Given the description of an element on the screen output the (x, y) to click on. 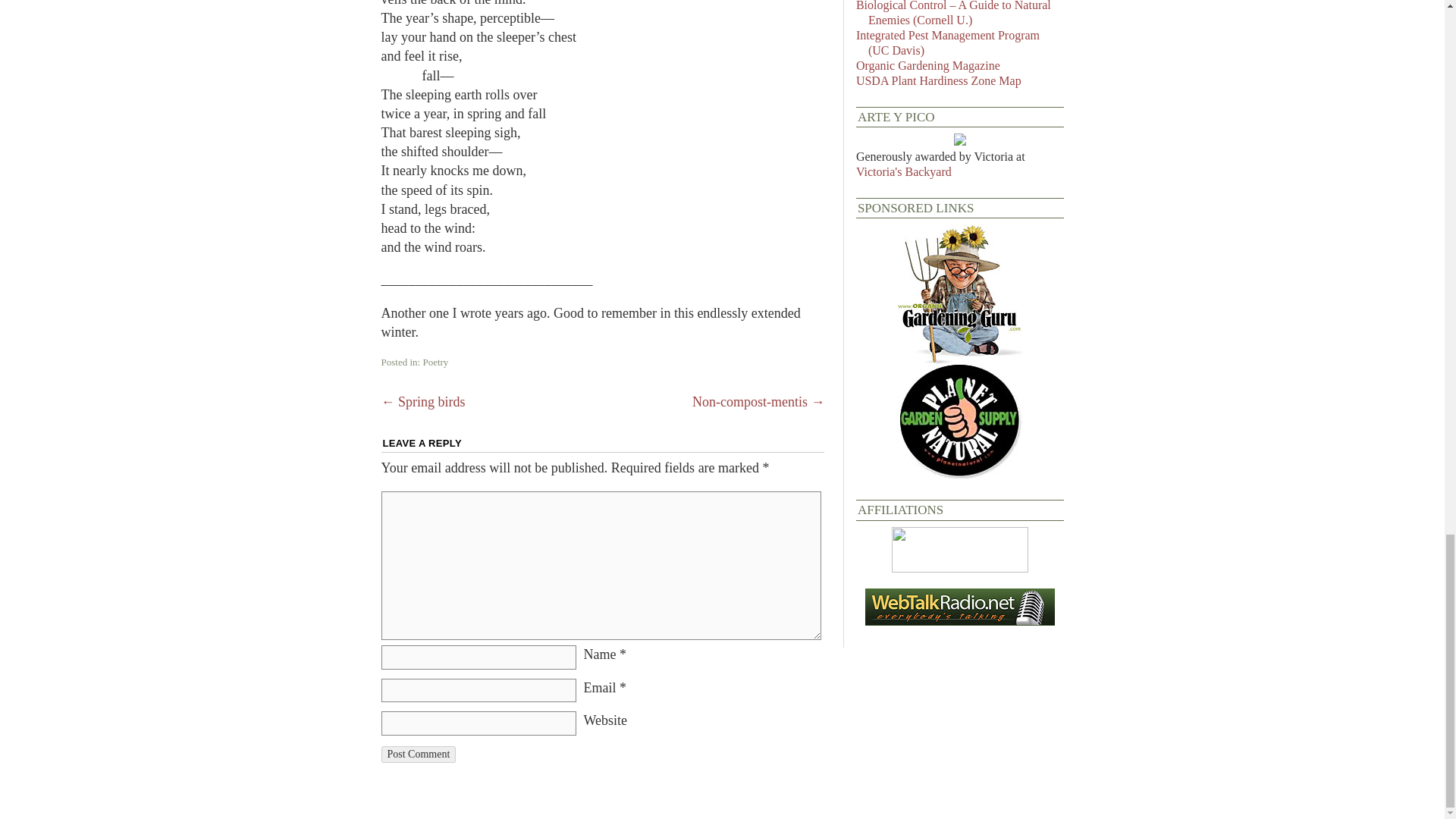
Post Comment (417, 754)
Poetry (435, 361)
Post Comment (417, 754)
includes all of North America (939, 80)
